Given the description of an element on the screen output the (x, y) to click on. 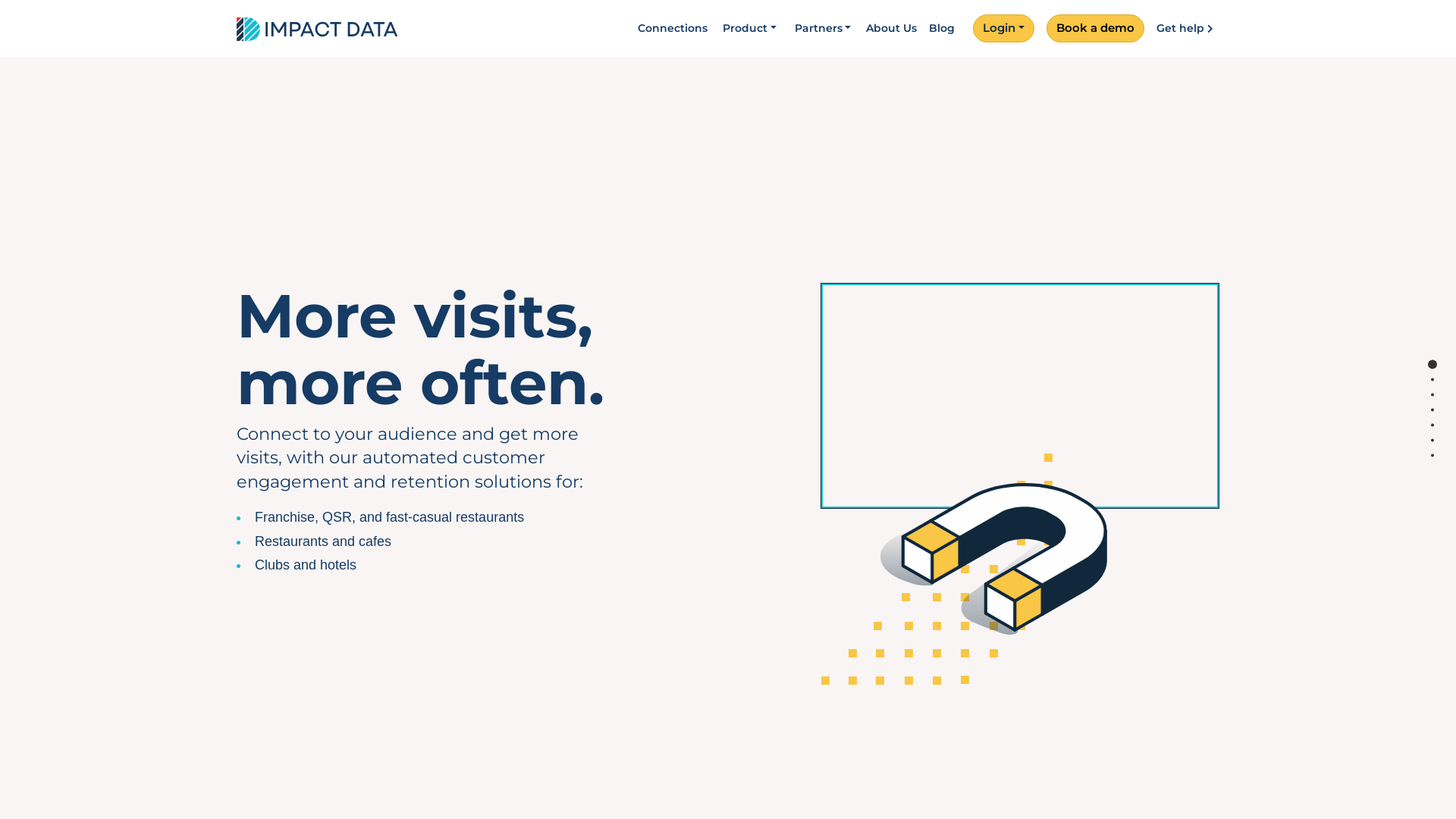
Section 2 Element type: text (1432, 379)
Product Element type: text (749, 28)
Partners Element type: text (822, 28)
YouTube video player Element type: hover (1019, 396)
Section 7 Element type: text (1432, 455)
Connections Element type: text (672, 28)
Book a demo Element type: text (1095, 28)
Section 1 Element type: text (1432, 364)
Section 5 Element type: text (1432, 424)
Section 6 Element type: text (1432, 440)
Section 4 Element type: text (1432, 409)
Get help Element type: text (1187, 28)
About Us Element type: text (890, 28)
Blog Element type: text (941, 28)
Login Element type: text (1003, 28)
Section 3 Element type: text (1432, 394)
